Given the description of an element on the screen output the (x, y) to click on. 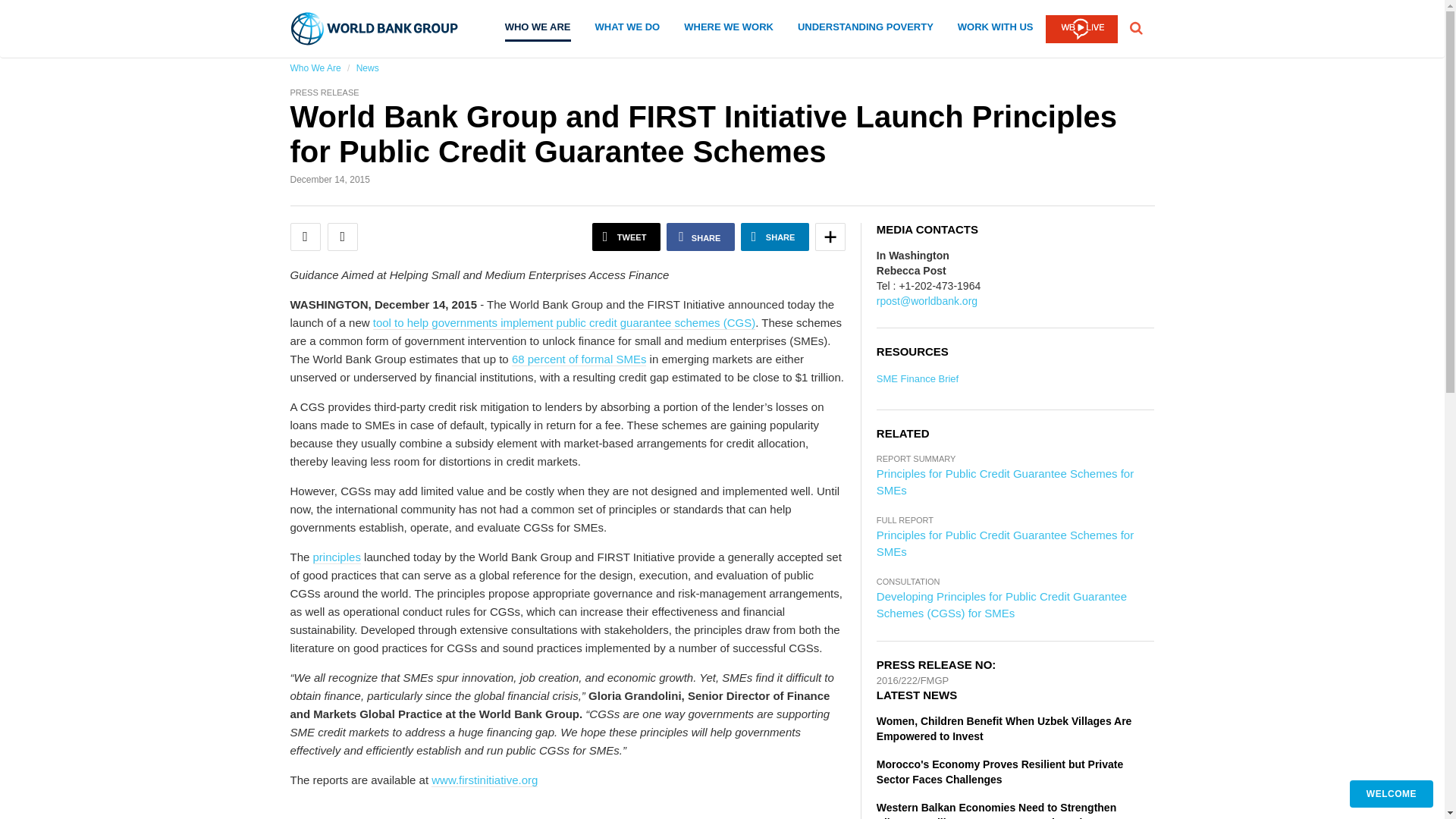
Share (775, 236)
Facebook (700, 236)
WHO WE ARE (537, 31)
Print (342, 236)
The World Bank Working for a World Free of Poverty (374, 28)
Share (830, 236)
WHAT WE DO (628, 30)
Email (304, 236)
Tweet (626, 236)
